Given the description of an element on the screen output the (x, y) to click on. 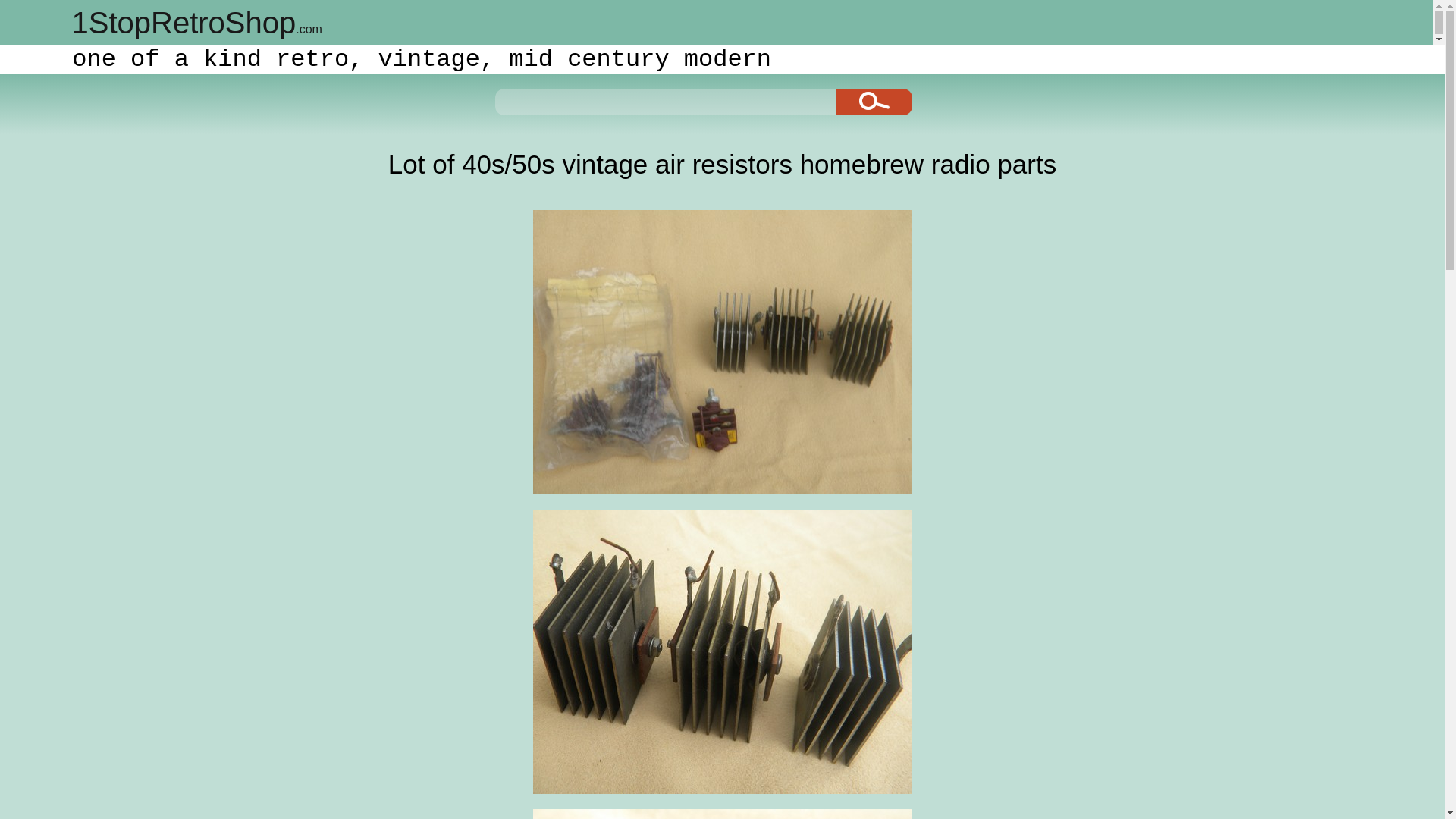
1StopRetroShop.com (196, 22)
